Given the description of an element on the screen output the (x, y) to click on. 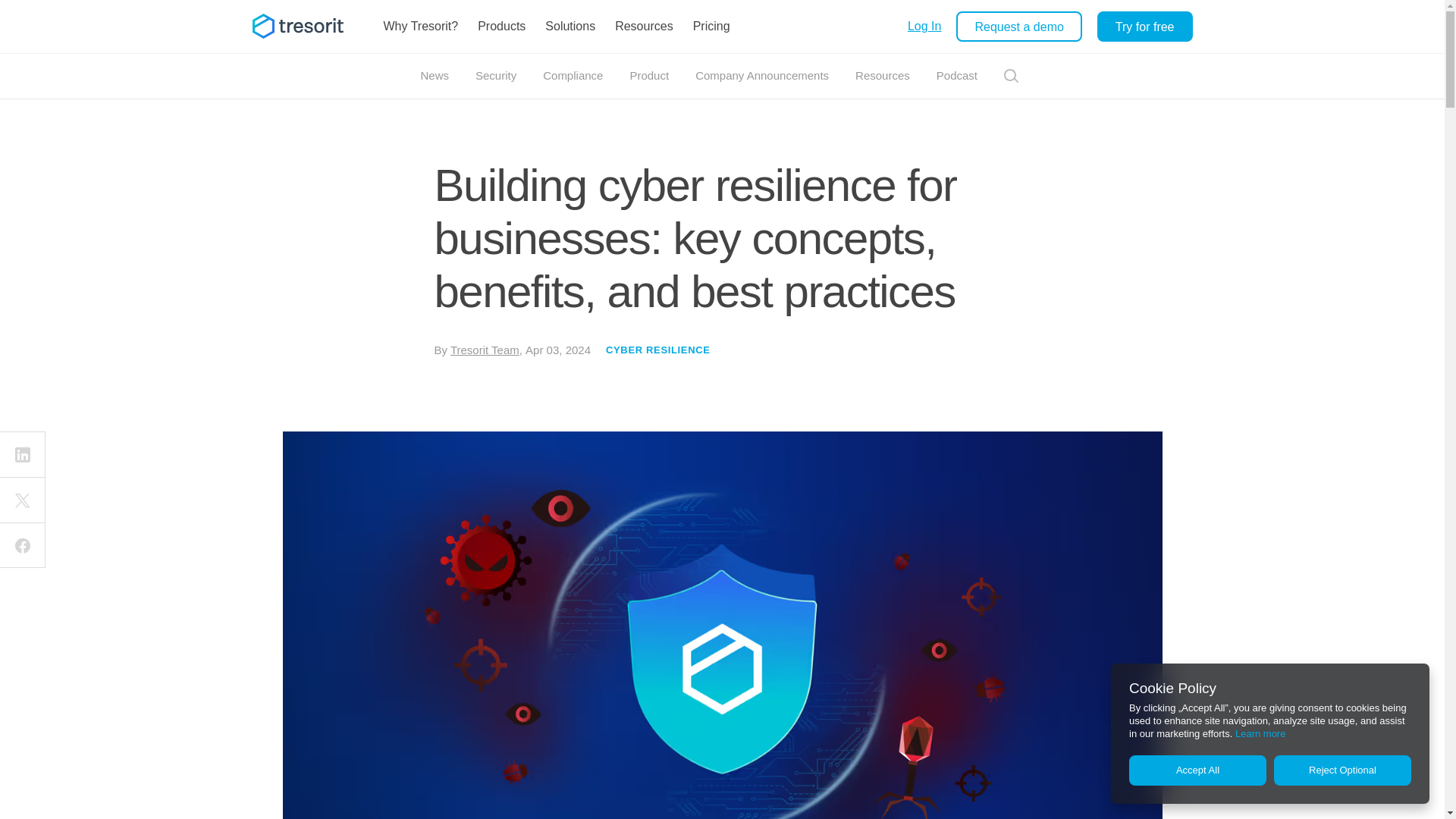
Learn more (1259, 733)
Why Tresorit? (419, 26)
Products (501, 26)
Reject Optional (1342, 770)
Solutions (570, 26)
Resources (643, 26)
Accept All (1197, 770)
